Given the description of an element on the screen output the (x, y) to click on. 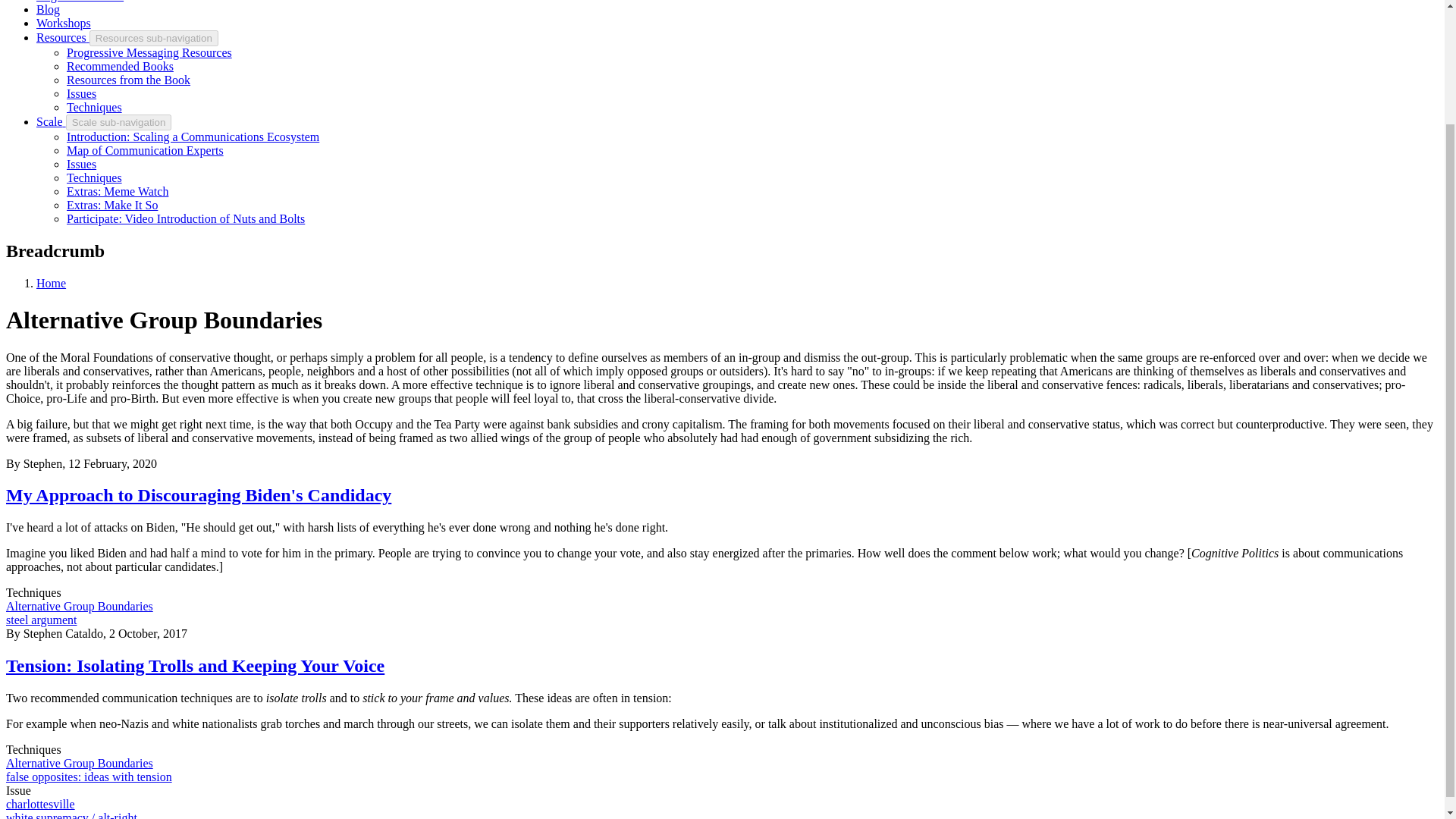
Participate: Video Introduction of Nuts and Bolts (185, 218)
A flowchart for creating a communications ecosystem (192, 136)
Techniques (94, 106)
Introduction: Scaling a Communications Ecosystem (192, 136)
Resources sub-navigation (153, 37)
Scaling Progressive Communications (50, 121)
Issues (81, 92)
Tension: Isolating Trolls and Keeping Your Voice (194, 665)
Alternative Group Boundaries (78, 605)
Resources (62, 37)
